Given the description of an element on the screen output the (x, y) to click on. 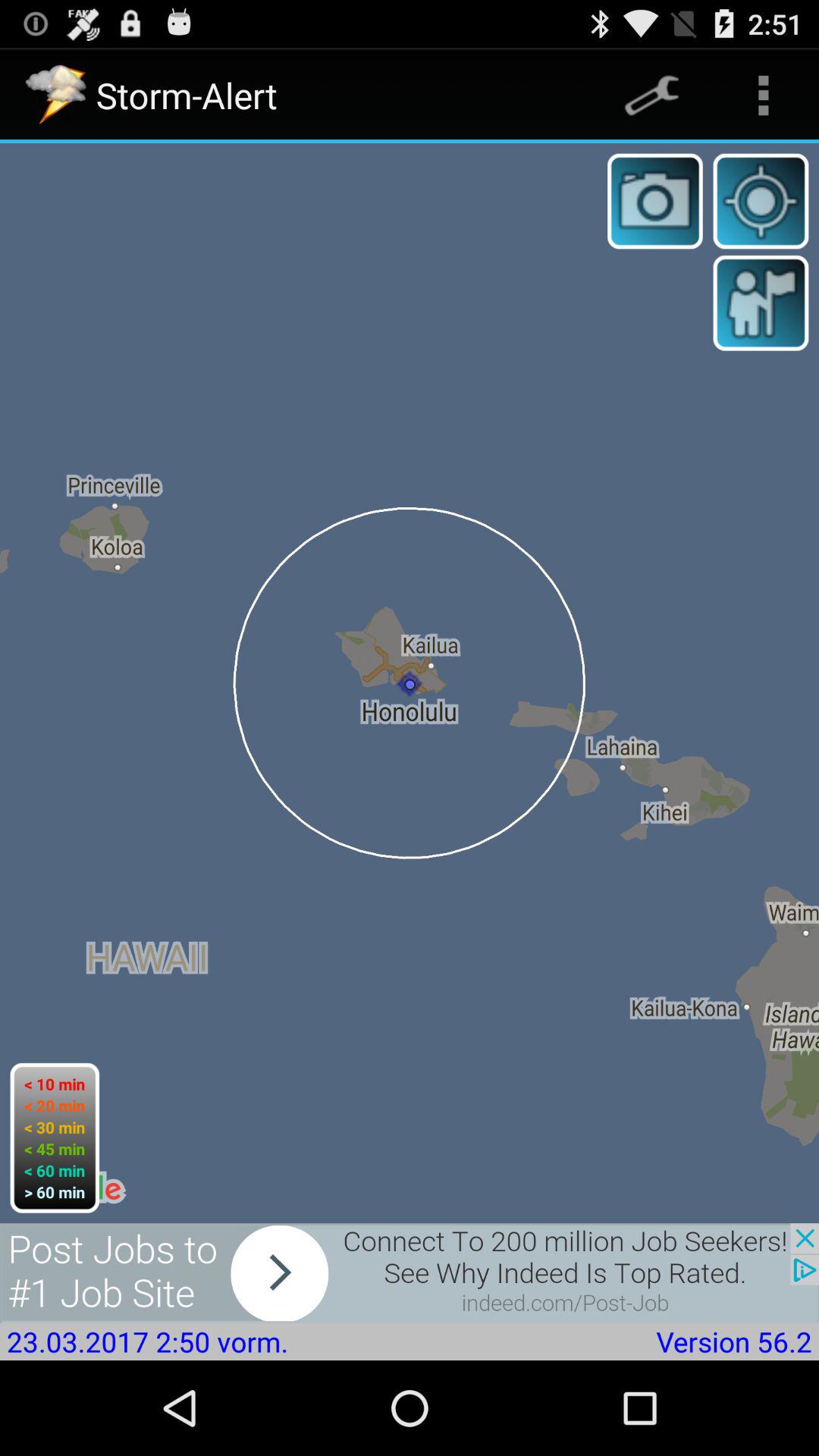
skip advertisement (409, 1272)
